Given the description of an element on the screen output the (x, y) to click on. 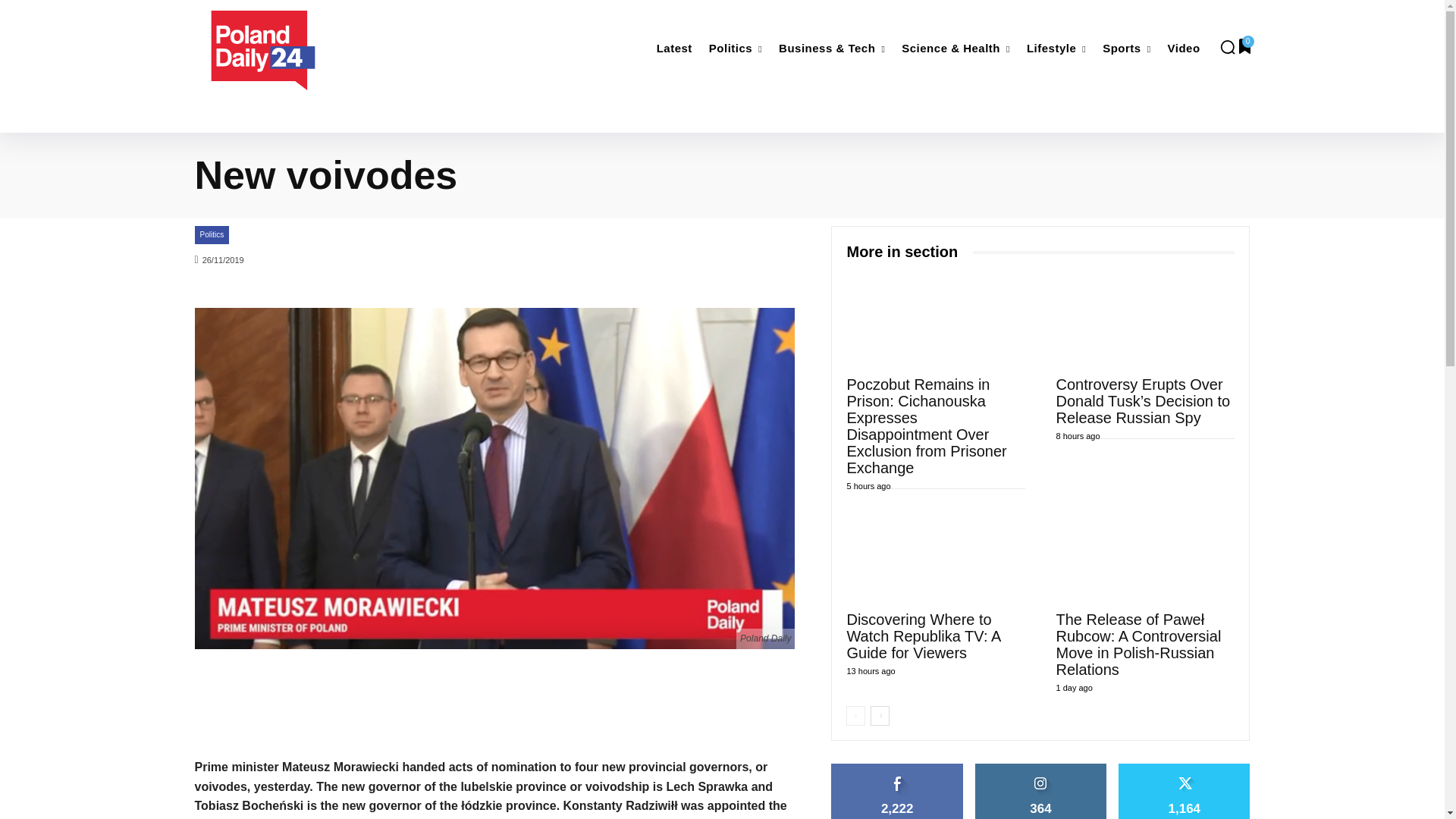
Politics (735, 48)
